Given the description of an element on the screen output the (x, y) to click on. 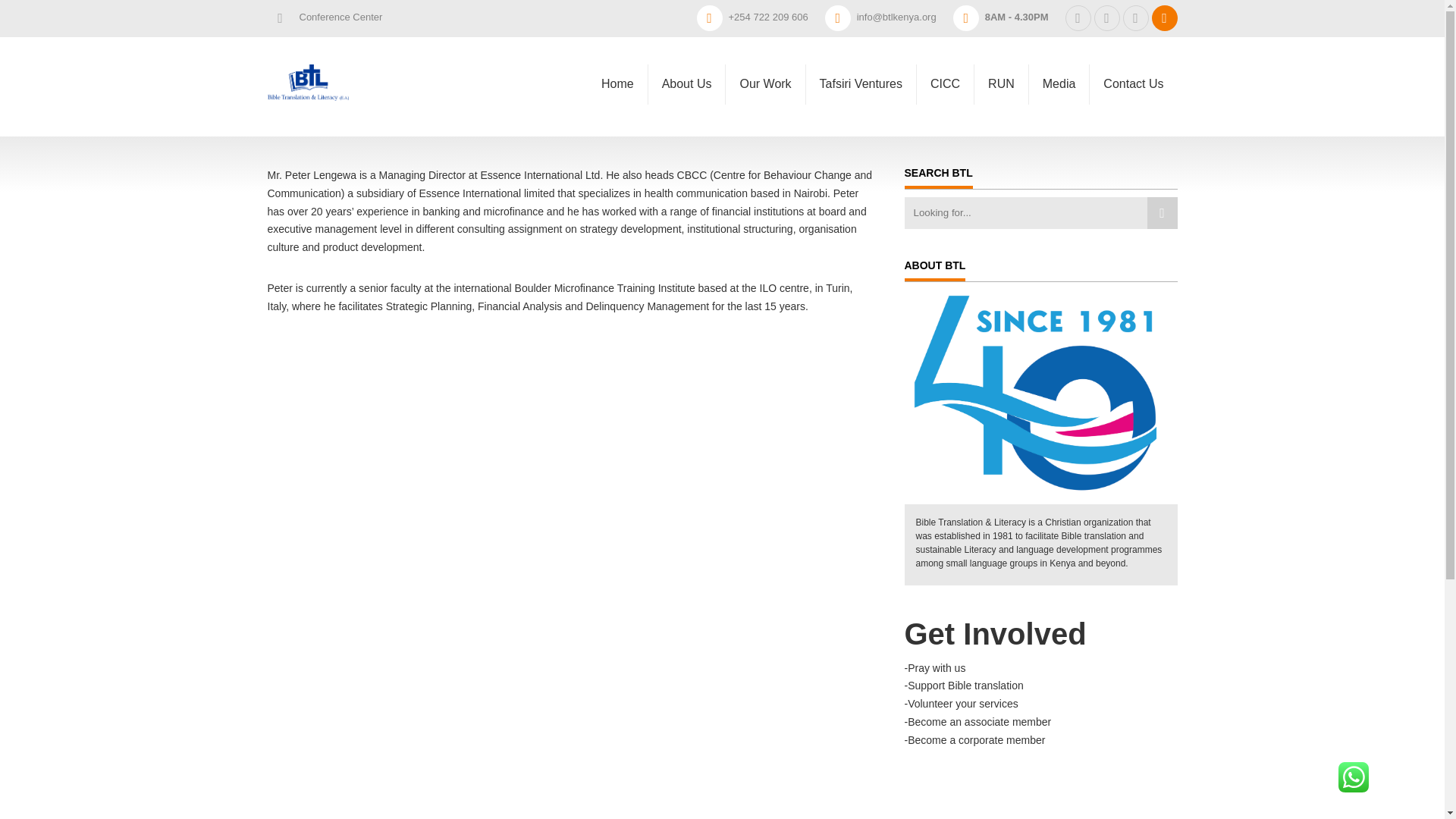
About Us (686, 74)
CICC (945, 84)
RUN (1000, 84)
Home (617, 69)
Tafsiri Ventures (860, 84)
Media (1059, 84)
Contact Us (1132, 84)
Our Work (765, 84)
